Given the description of an element on the screen output the (x, y) to click on. 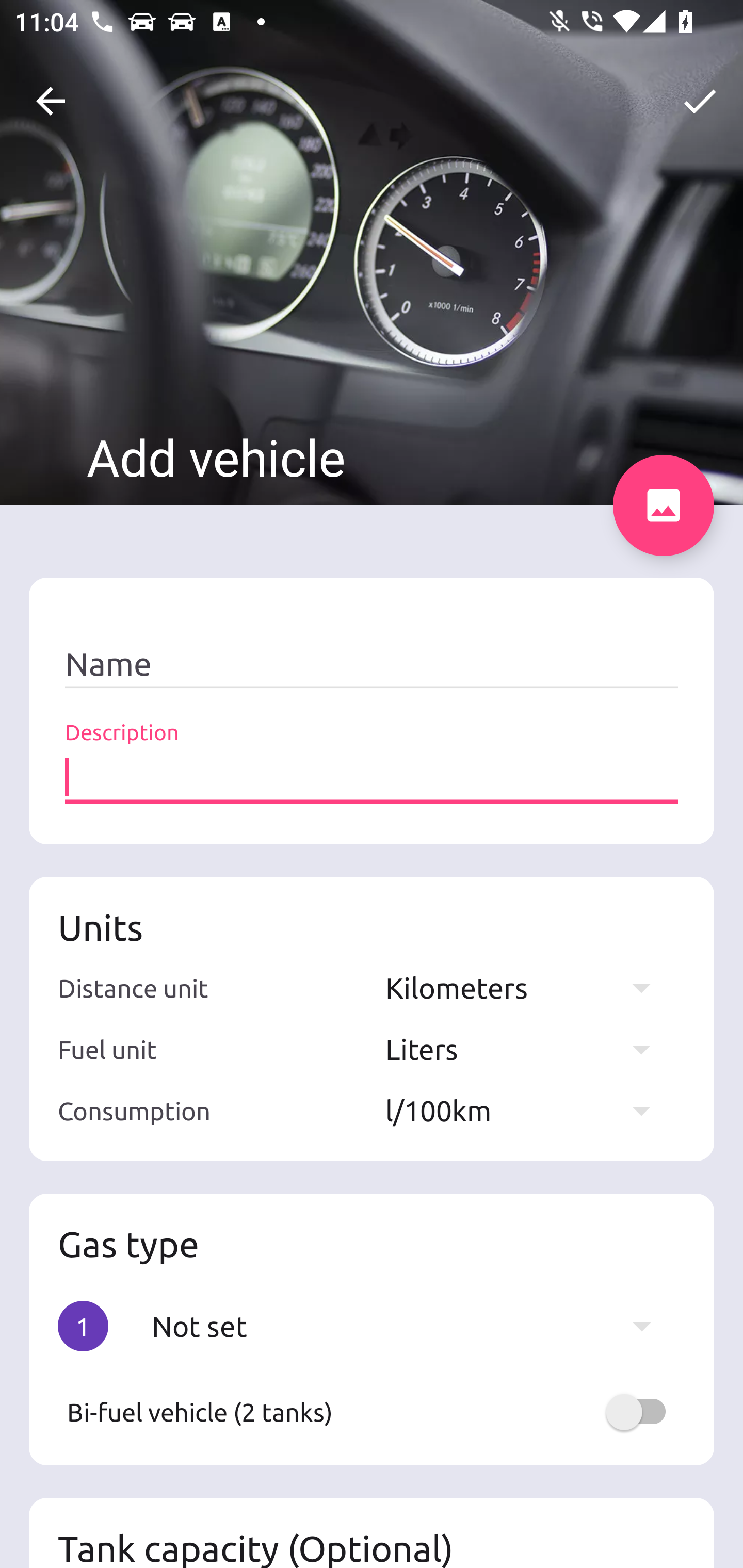
Navigate up (50, 101)
OK (699, 101)
Name (371, 664)
Description (371, 777)
Kilometers (527, 987)
Liters (527, 1048)
l/100km (527, 1110)
Not set (411, 1325)
Bi-fuel vehicle (2 tanks) (371, 1411)
